Given the description of an element on the screen output the (x, y) to click on. 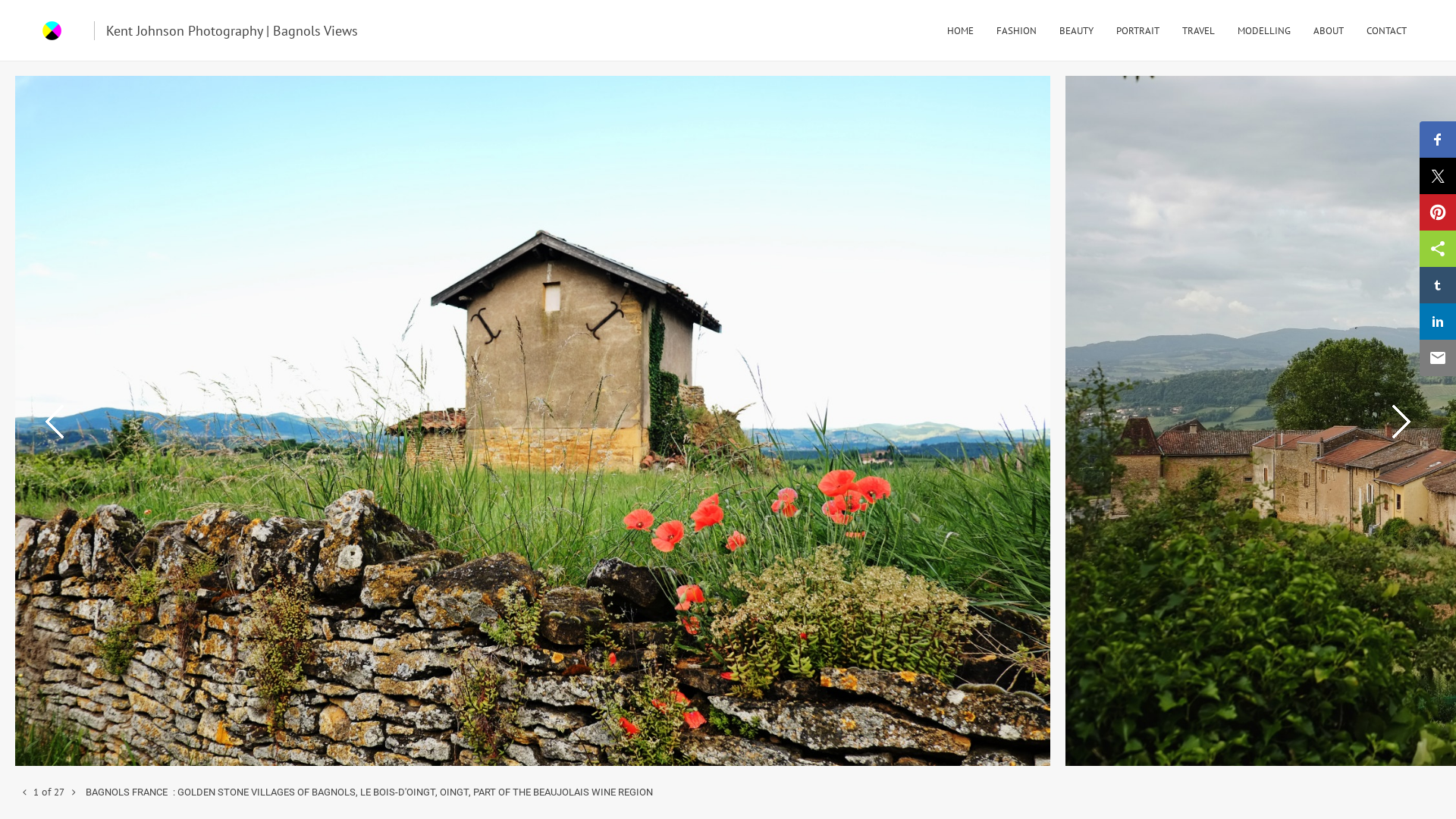
FASHION Element type: text (1016, 30)
HOME Element type: text (960, 30)
ABOUT Element type: text (1328, 30)
PORTRAIT Element type: text (1137, 30)
BEAUTY Element type: text (1076, 30)
MODELLING Element type: text (1263, 30)
CONTACT Element type: text (1386, 30)
TRAVEL Element type: text (1198, 30)
